Given the description of an element on the screen output the (x, y) to click on. 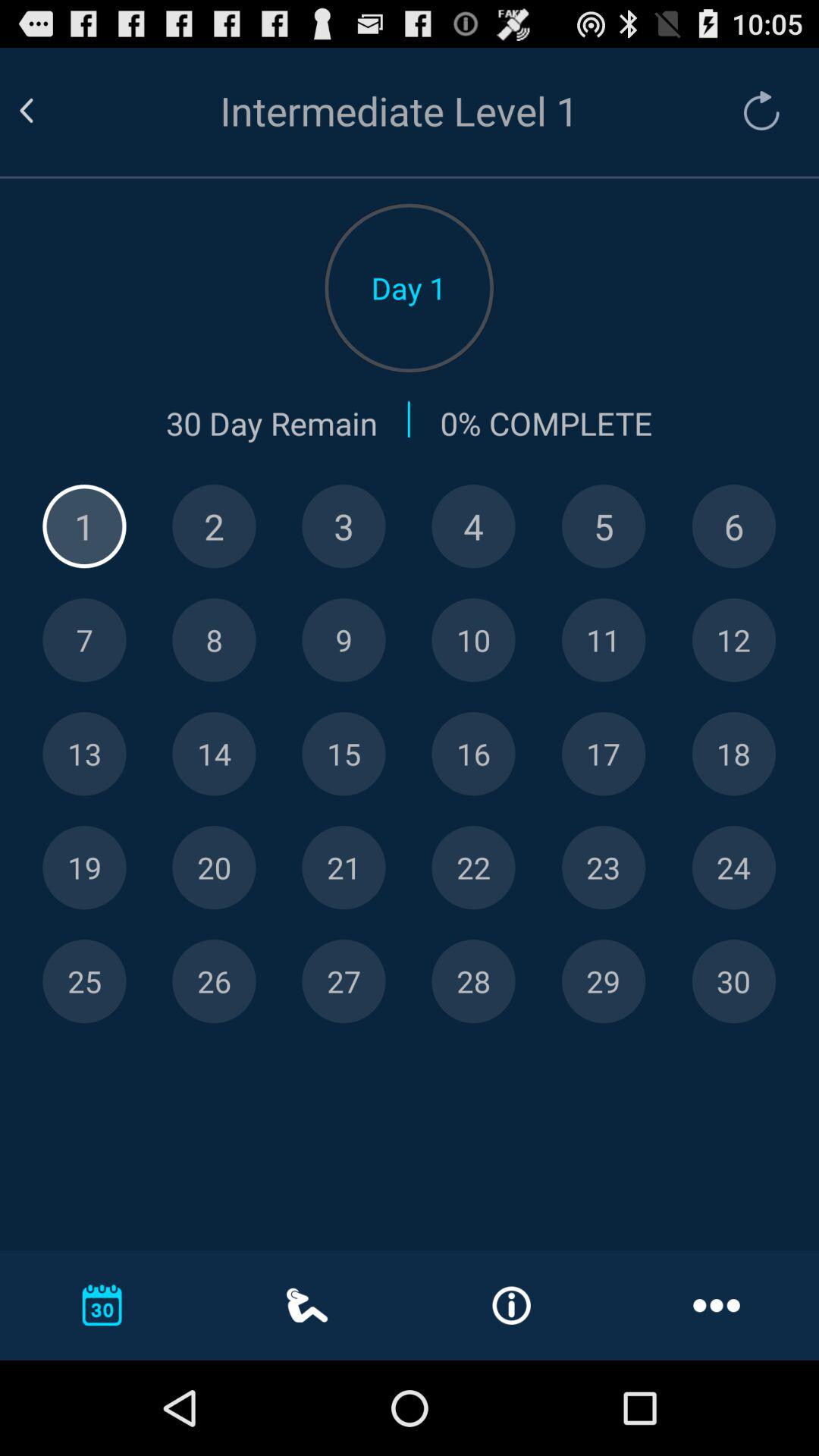
choose day (213, 639)
